Given the description of an element on the screen output the (x, y) to click on. 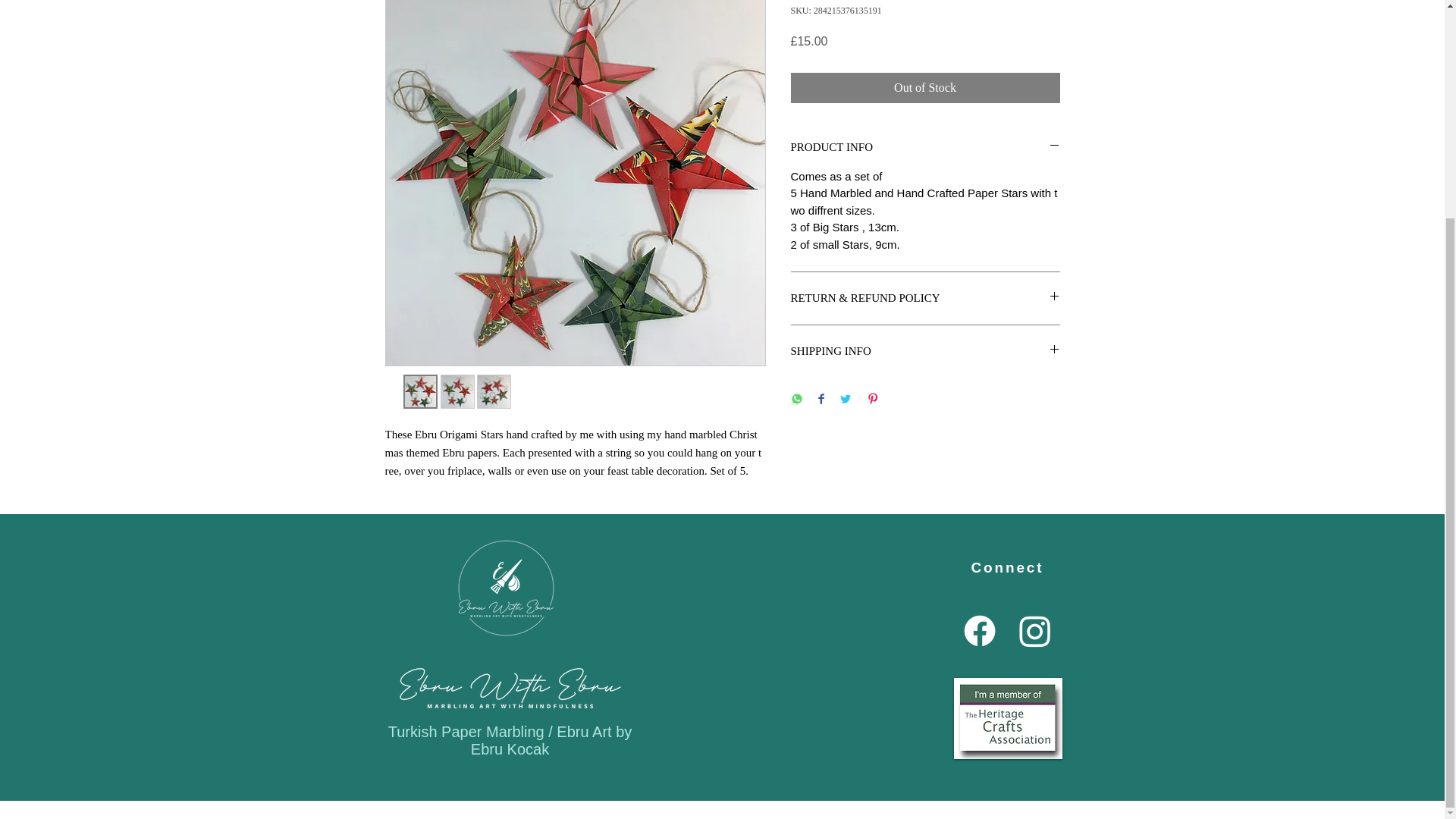
SHIPPING INFO (924, 351)
Out of Stock (924, 87)
PRODUCT INFO (924, 147)
Connect (1007, 567)
